Given the description of an element on the screen output the (x, y) to click on. 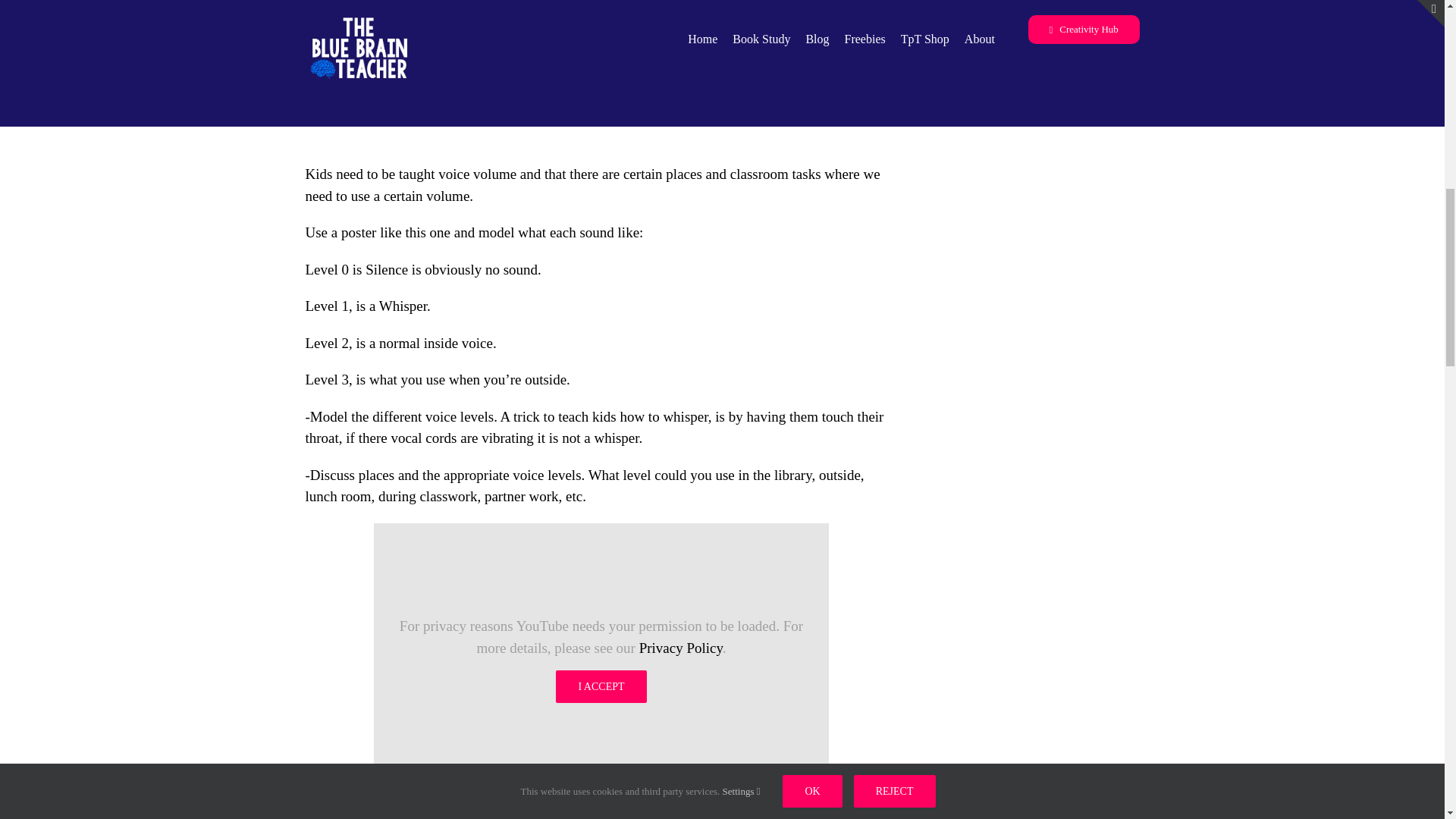
I ACCEPT (601, 686)
Privacy Policy (680, 647)
